Given the description of an element on the screen output the (x, y) to click on. 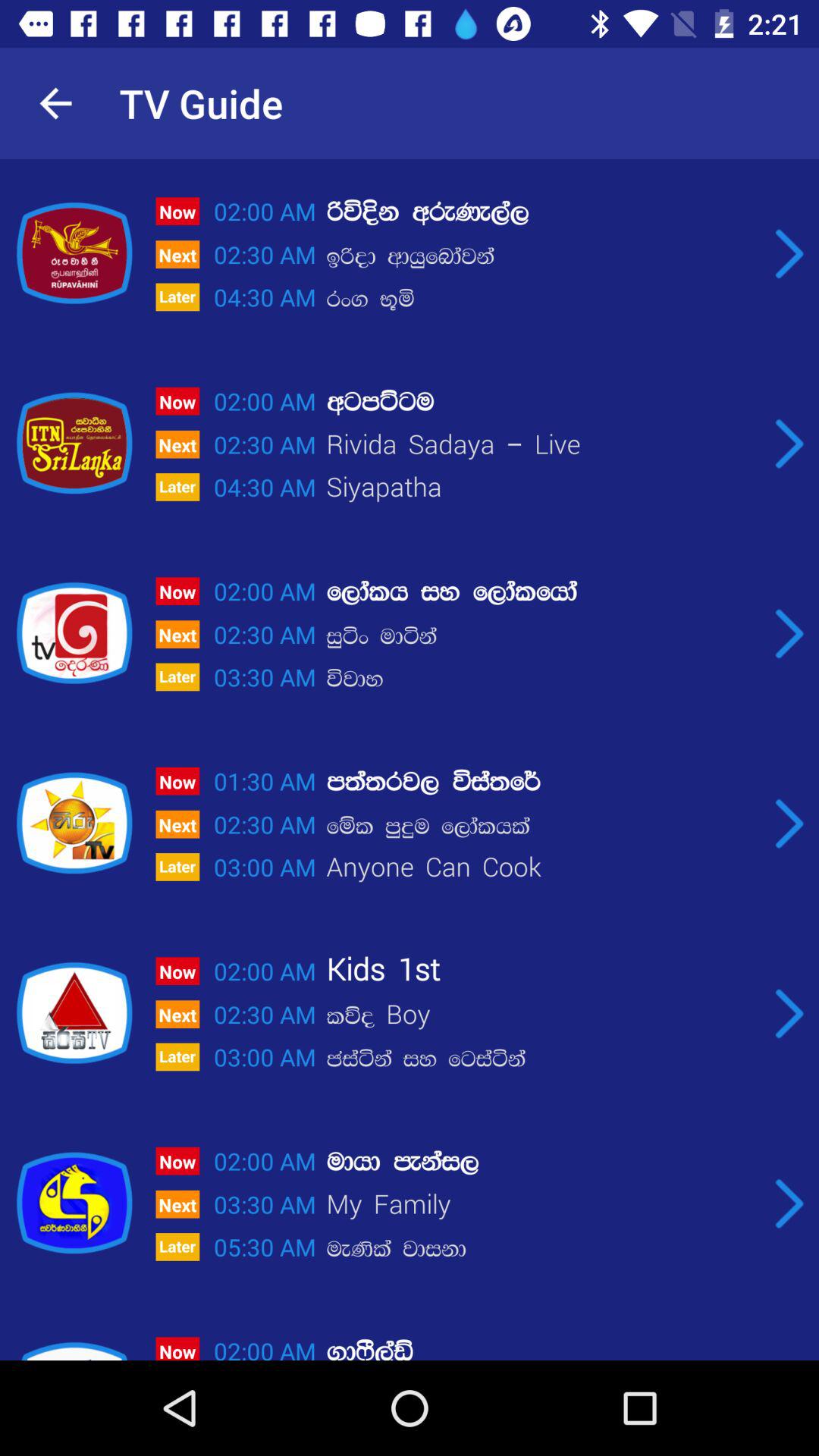
turn off icon to the right of the 02:00 am icon (542, 211)
